Given the description of an element on the screen output the (x, y) to click on. 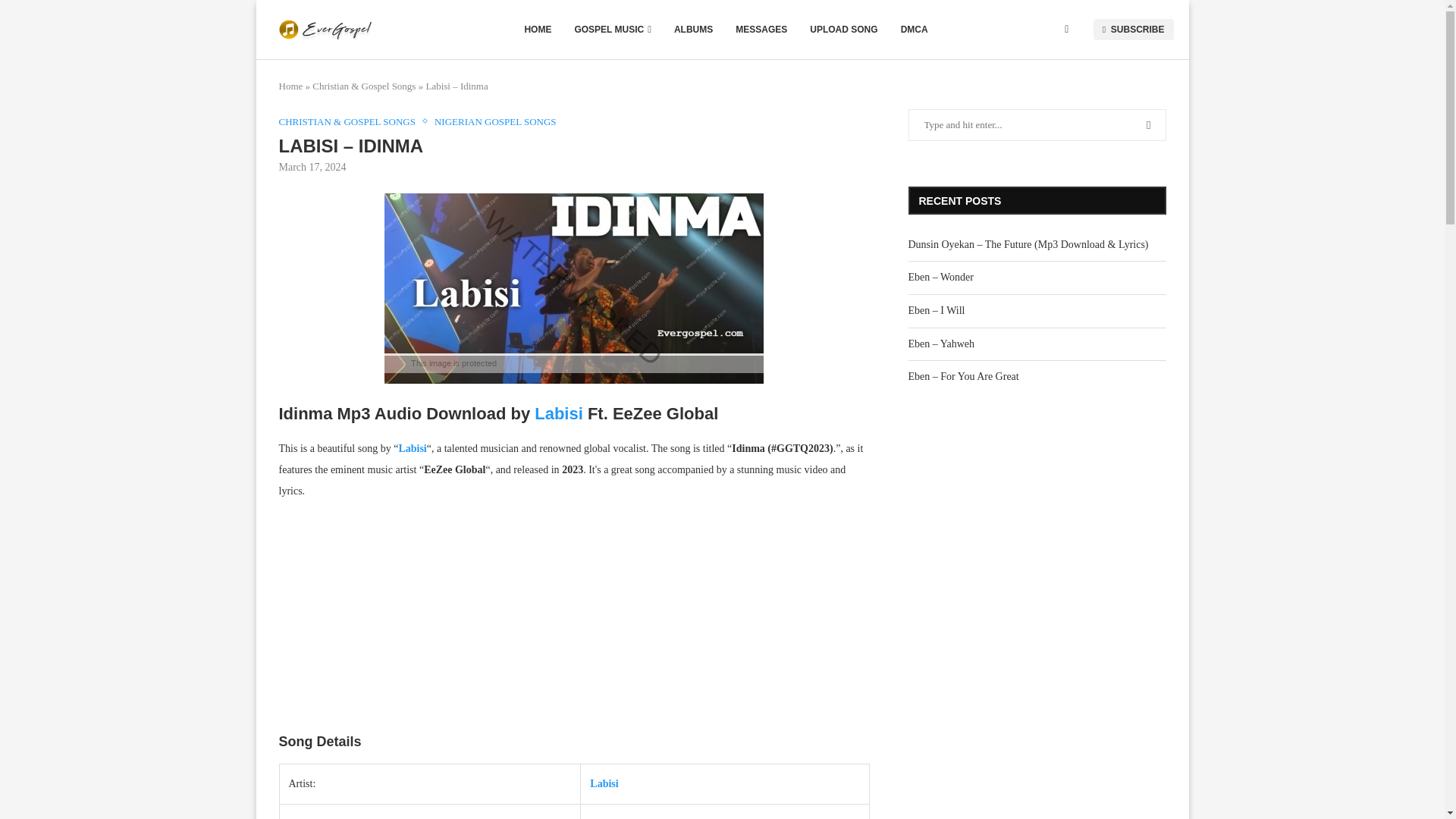
Posts tagged with Labisi (603, 783)
Labisi Idinma (573, 288)
Advertisement (574, 621)
Posts tagged with Labisi (411, 448)
  SUBSCRIBE (1133, 29)
GOSPEL MUSIC (611, 29)
UPLOAD SONG (843, 29)
MESSAGES (761, 29)
Posts tagged with Labisi (558, 413)
